Given the description of an element on the screen output the (x, y) to click on. 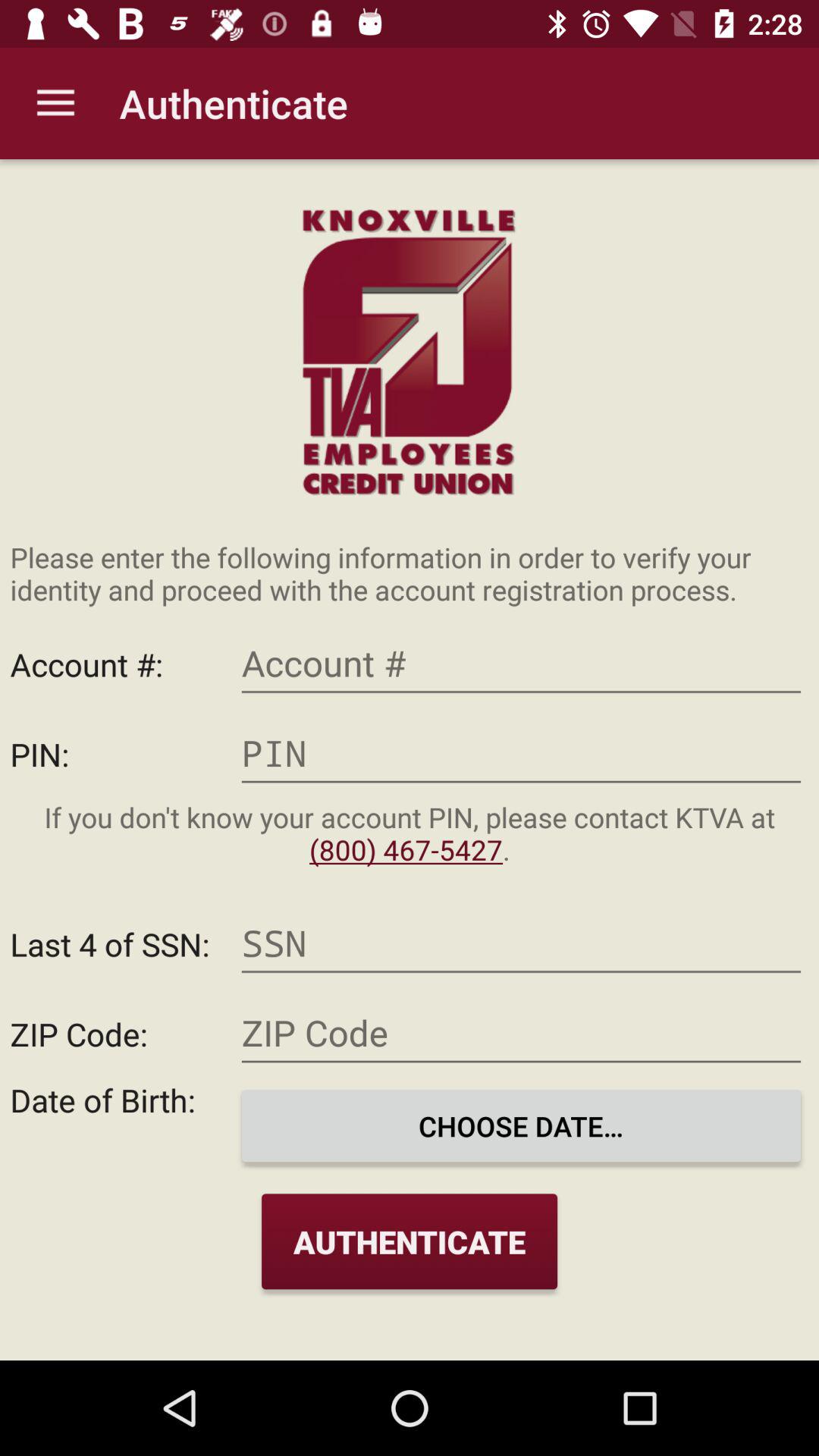
type last 4 of ssn (520, 943)
